Given the description of an element on the screen output the (x, y) to click on. 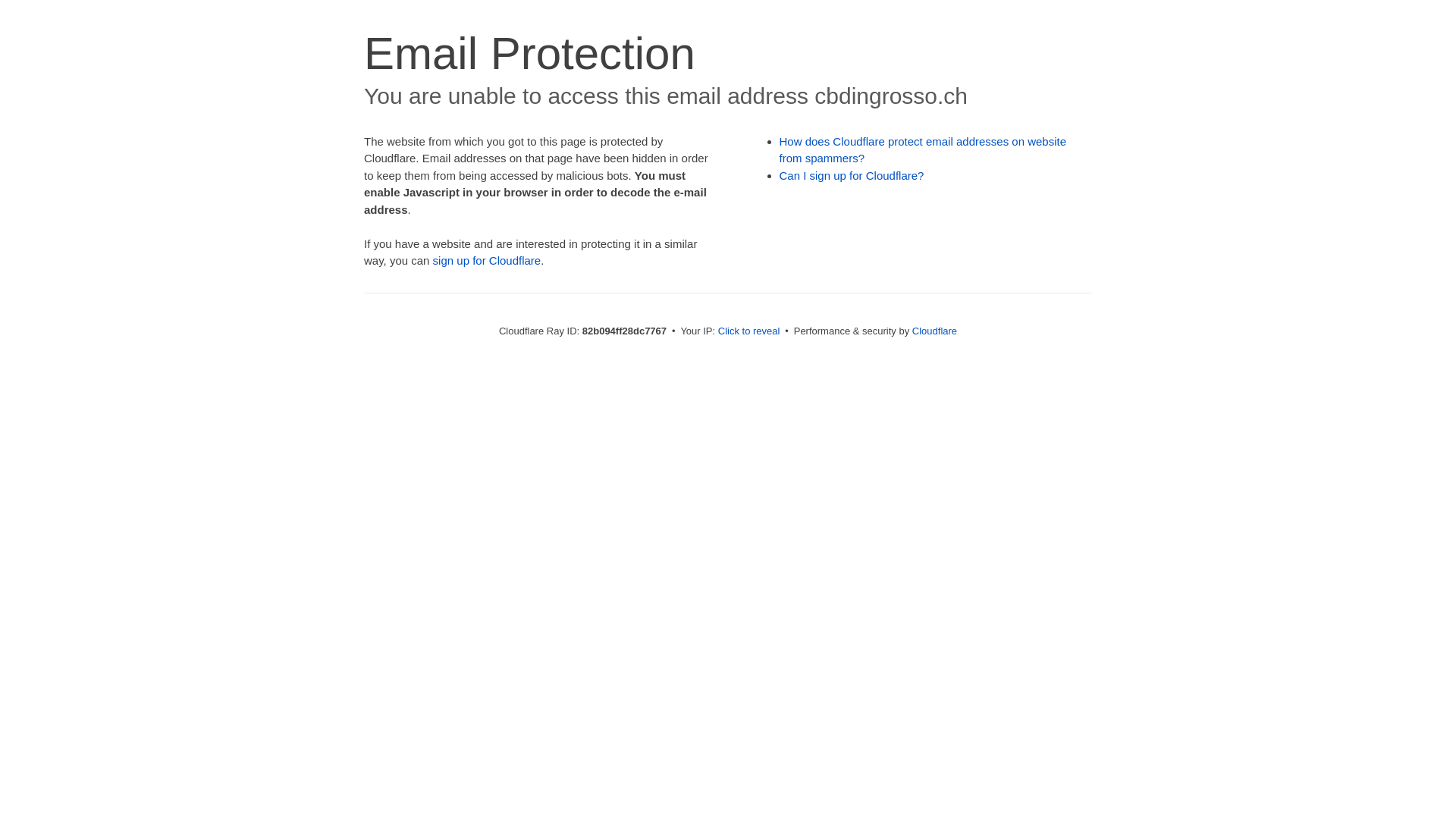
Cloudflare Element type: text (934, 330)
Can I sign up for Cloudflare? Element type: text (851, 175)
Click to reveal Element type: text (749, 330)
sign up for Cloudflare Element type: text (487, 260)
